Given the description of an element on the screen output the (x, y) to click on. 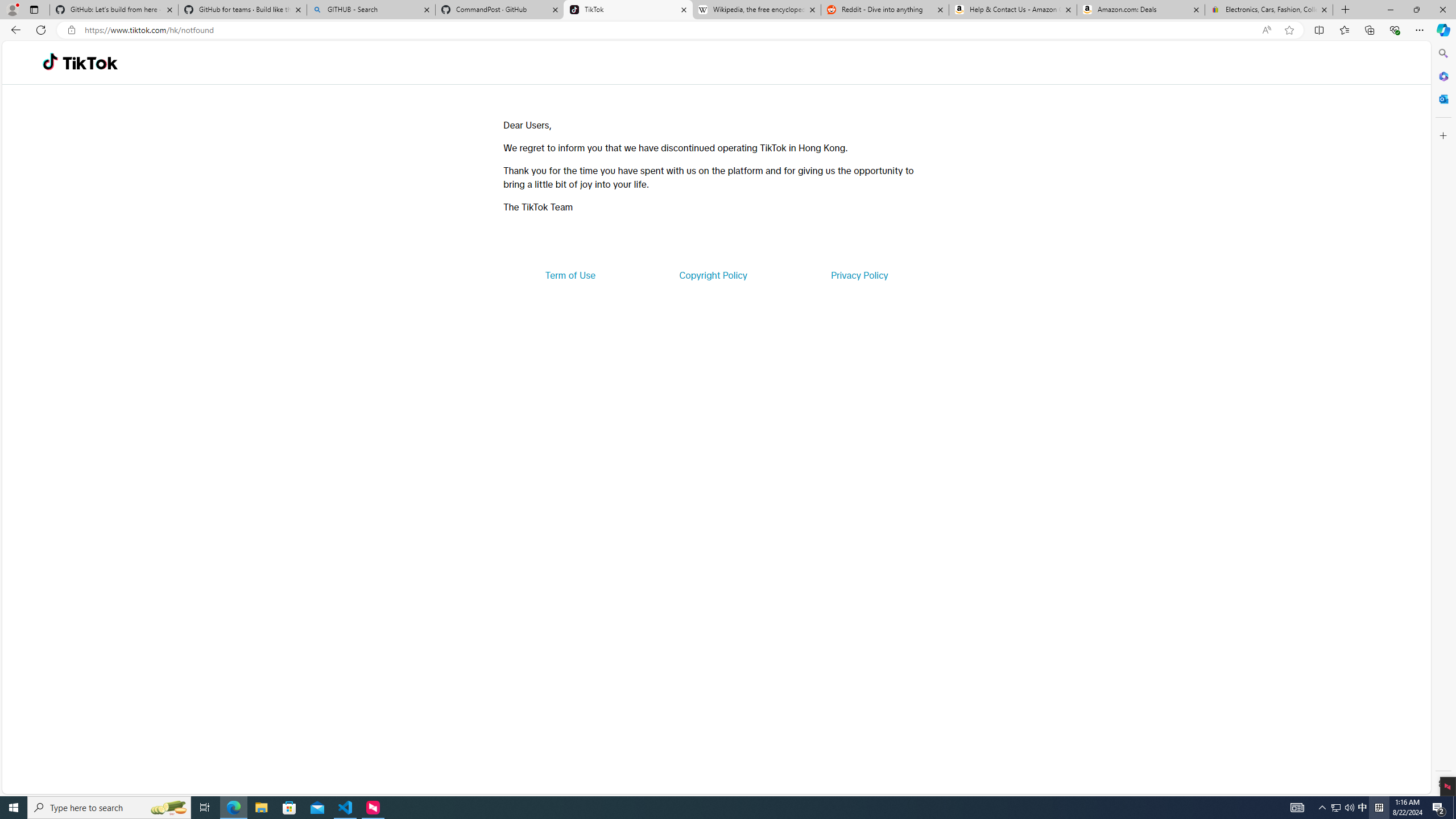
GITHUB - Search (370, 9)
Copyright Policy (712, 274)
Privacy Policy (858, 274)
